Given the description of an element on the screen output the (x, y) to click on. 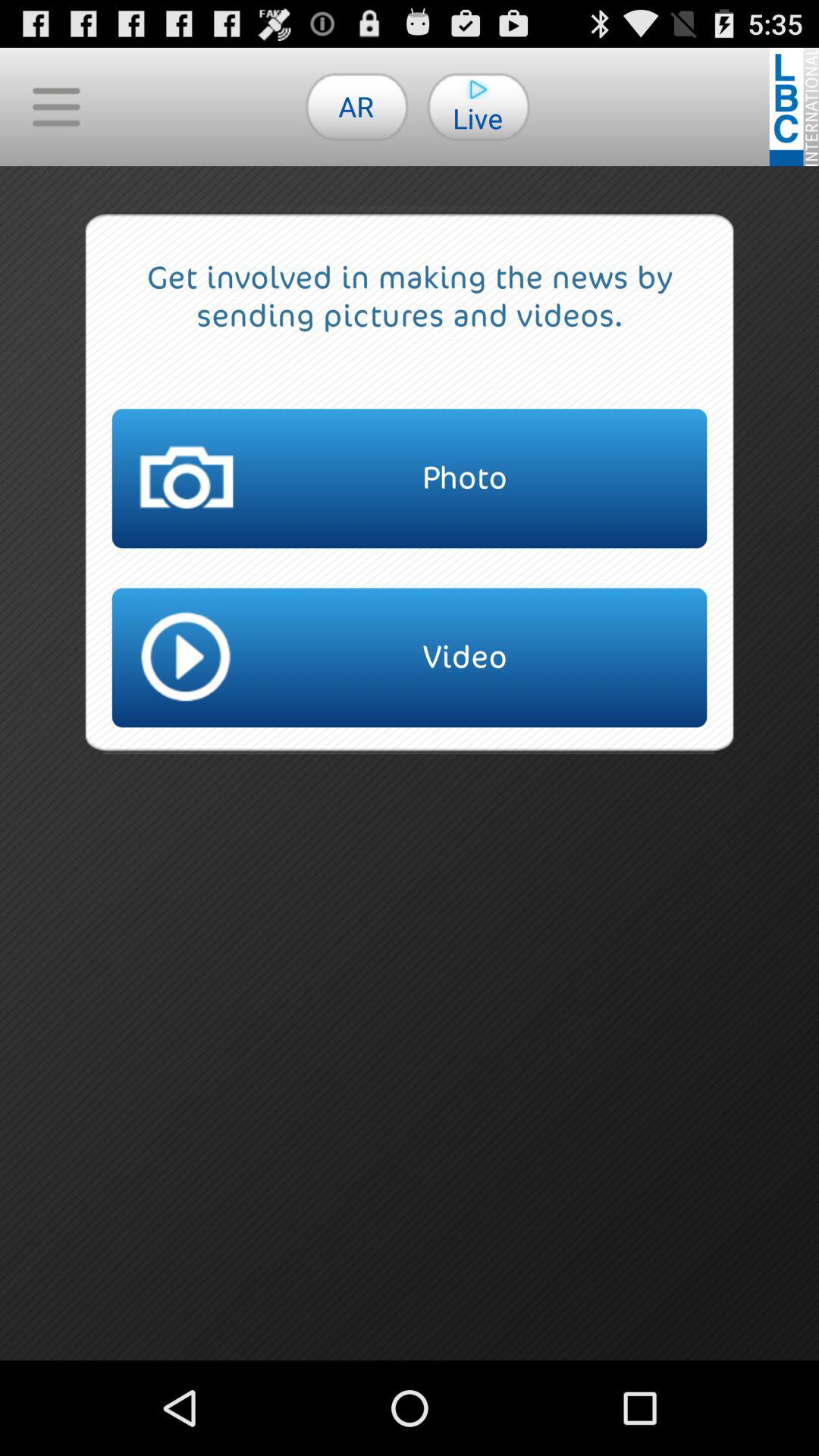
turn off ar (356, 106)
